Given the description of an element on the screen output the (x, y) to click on. 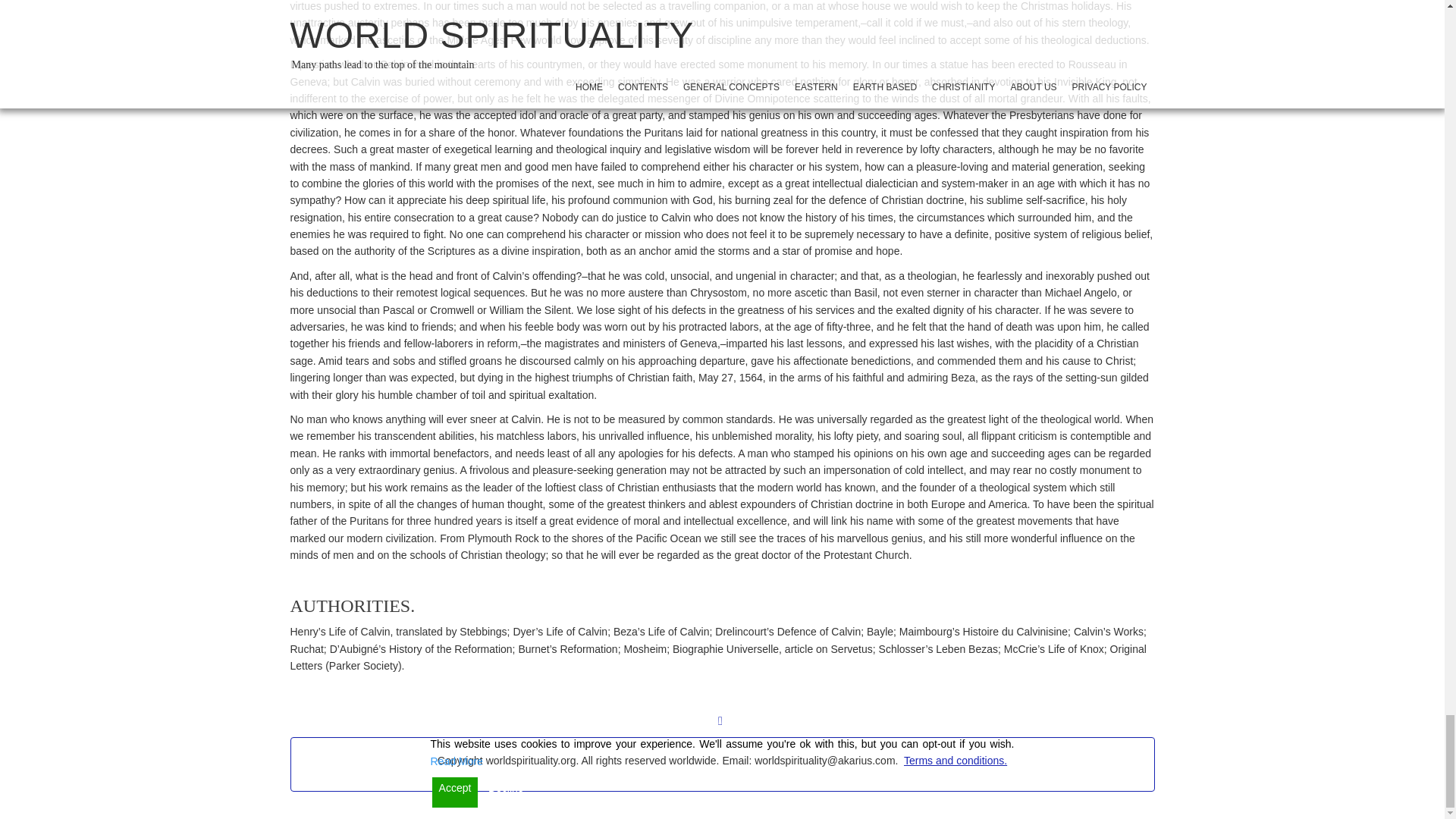
Terms and conditions. (955, 760)
